Given the description of an element on the screen output the (x, y) to click on. 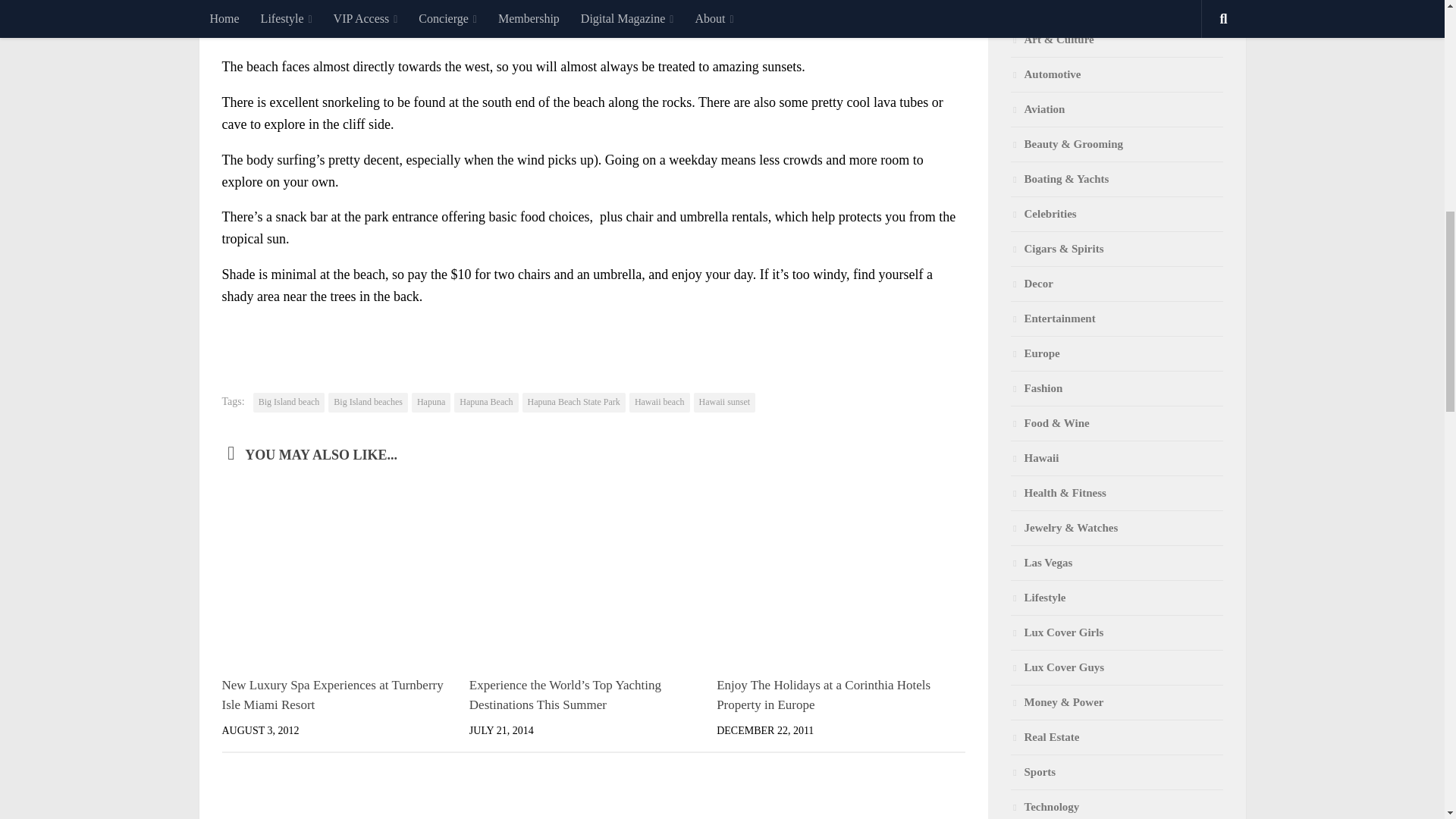
Print Content (953, 336)
